Given the description of an element on the screen output the (x, y) to click on. 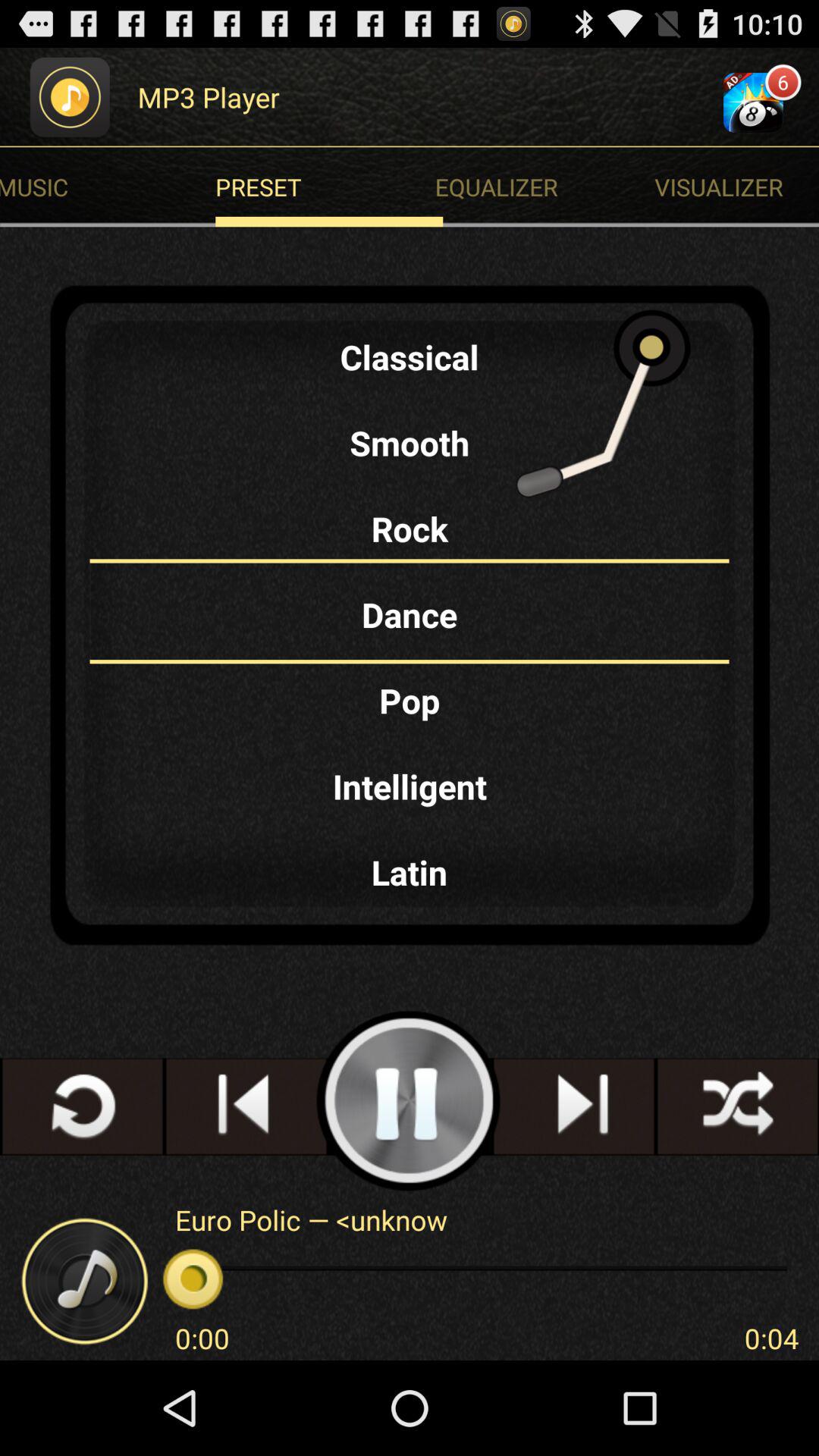
turn on the visualizer radio button (736, 186)
